Given the description of an element on the screen output the (x, y) to click on. 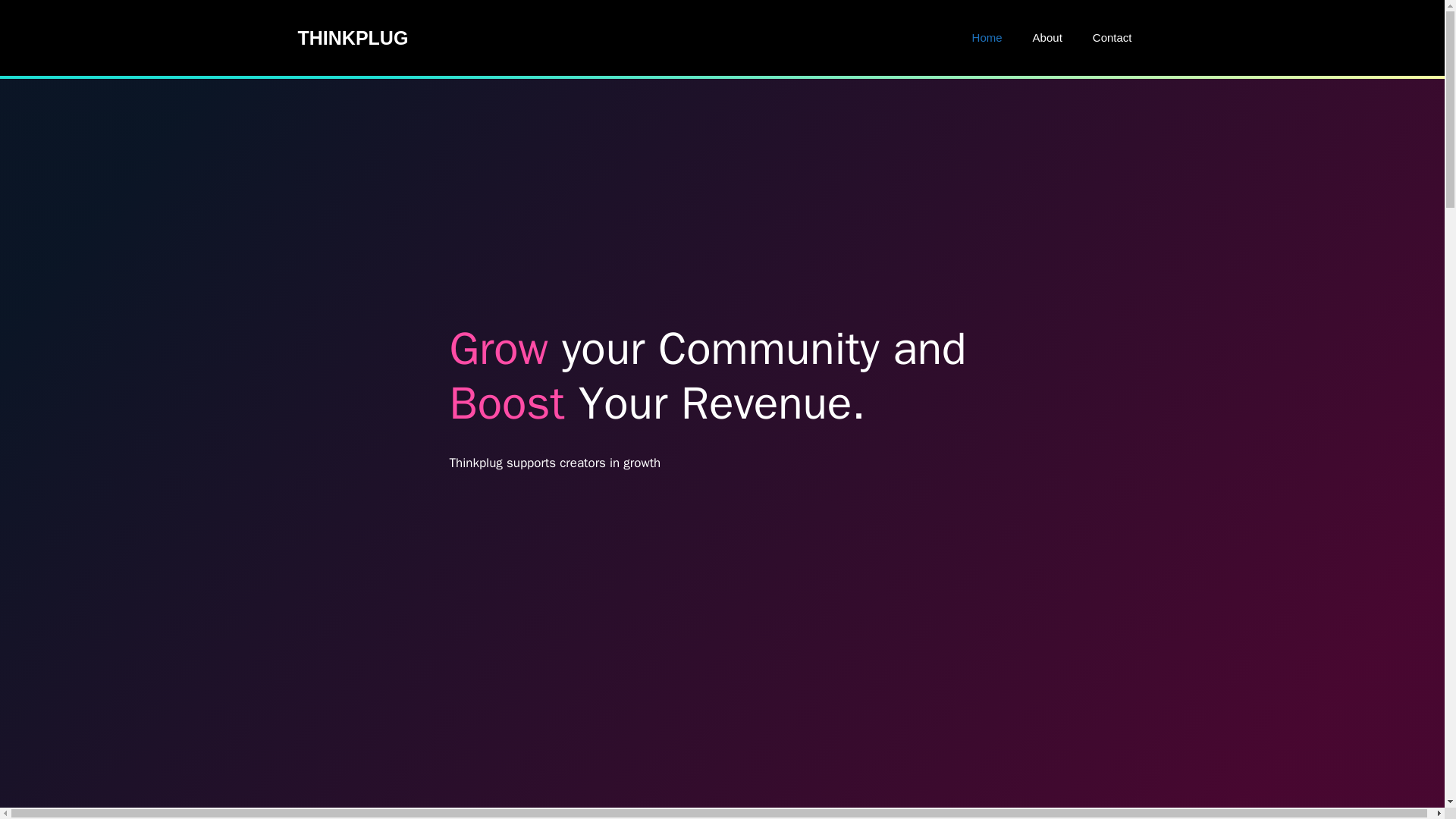
Home (986, 37)
Contact (1112, 37)
About (1047, 37)
THINKPLUG (352, 37)
